Given the description of an element on the screen output the (x, y) to click on. 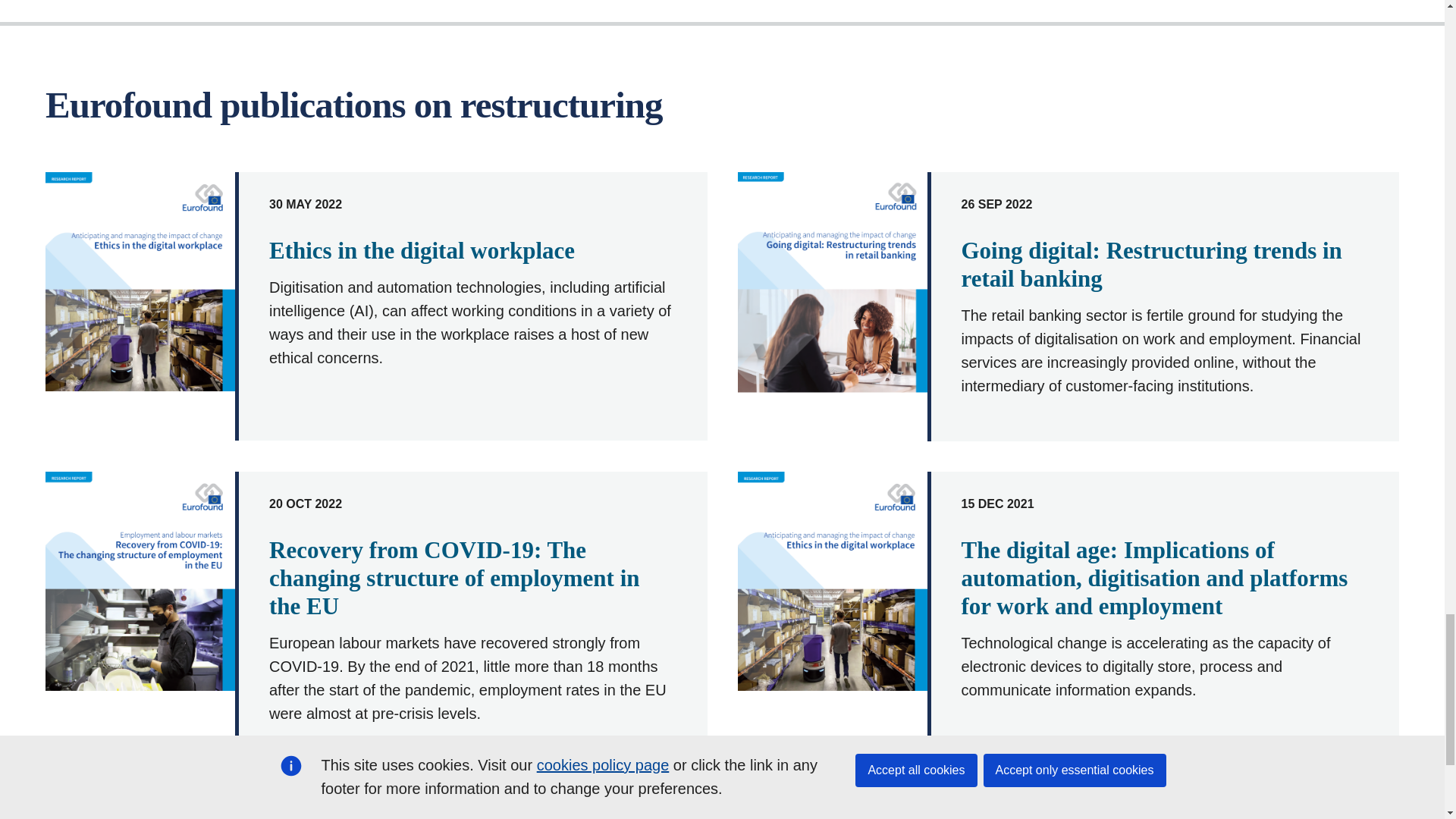
Going digital: Restructuring trends in retail banking (1151, 264)
Ethics in the digital workplace (422, 250)
